Given the description of an element on the screen output the (x, y) to click on. 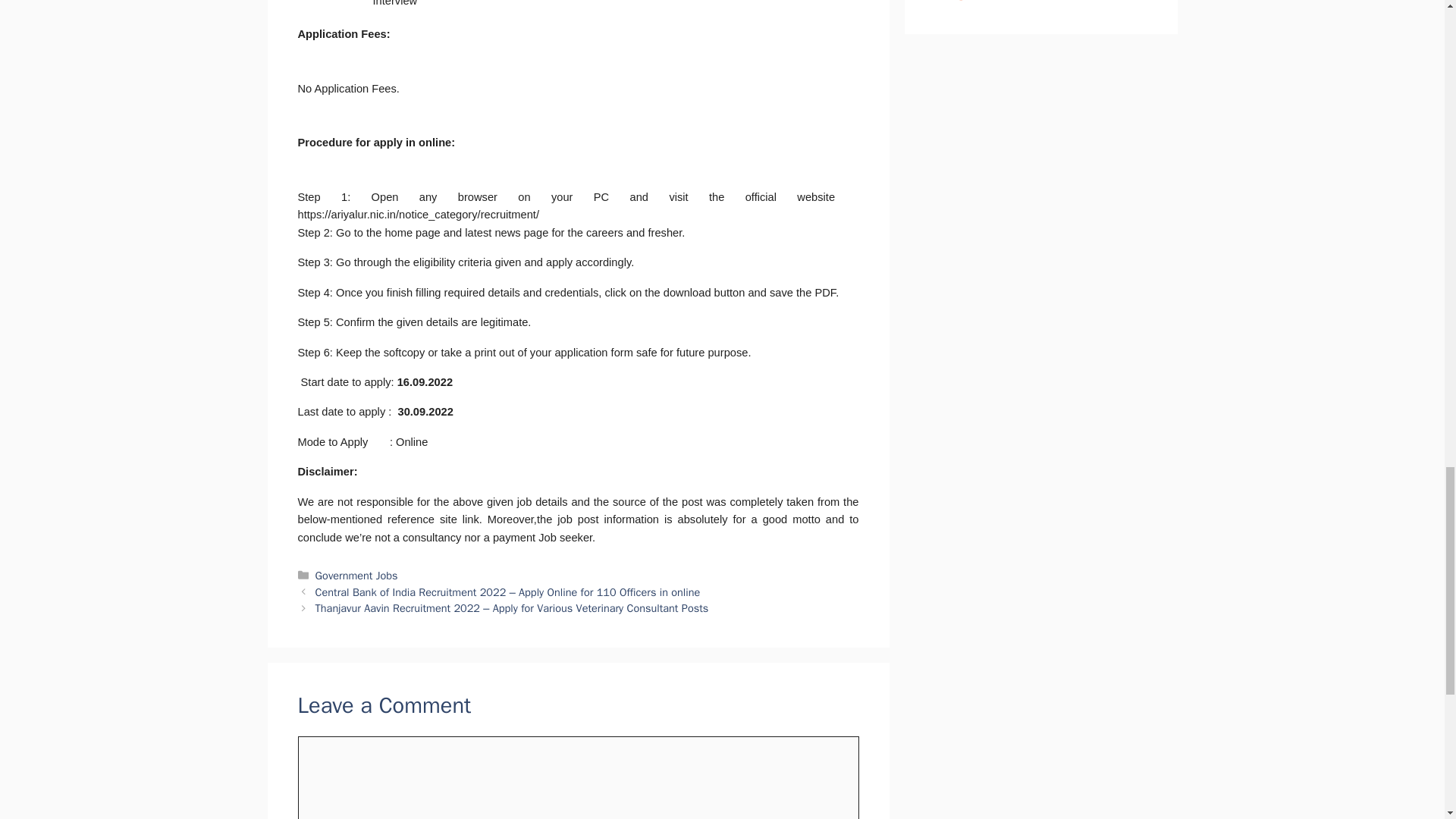
Government Jobs (356, 575)
